Given the description of an element on the screen output the (x, y) to click on. 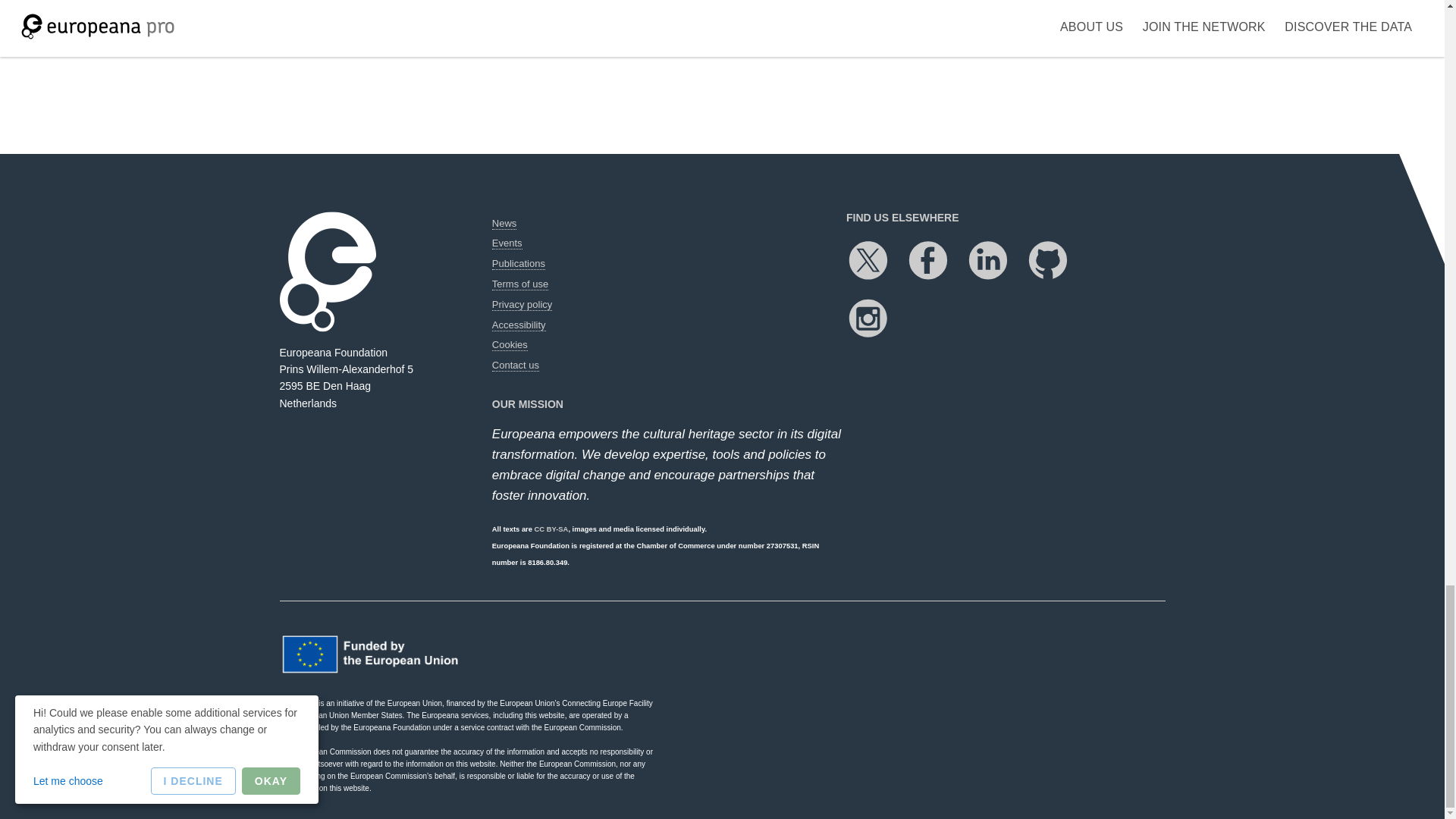
News (504, 223)
Publications (518, 263)
Events (507, 243)
